Given the description of an element on the screen output the (x, y) to click on. 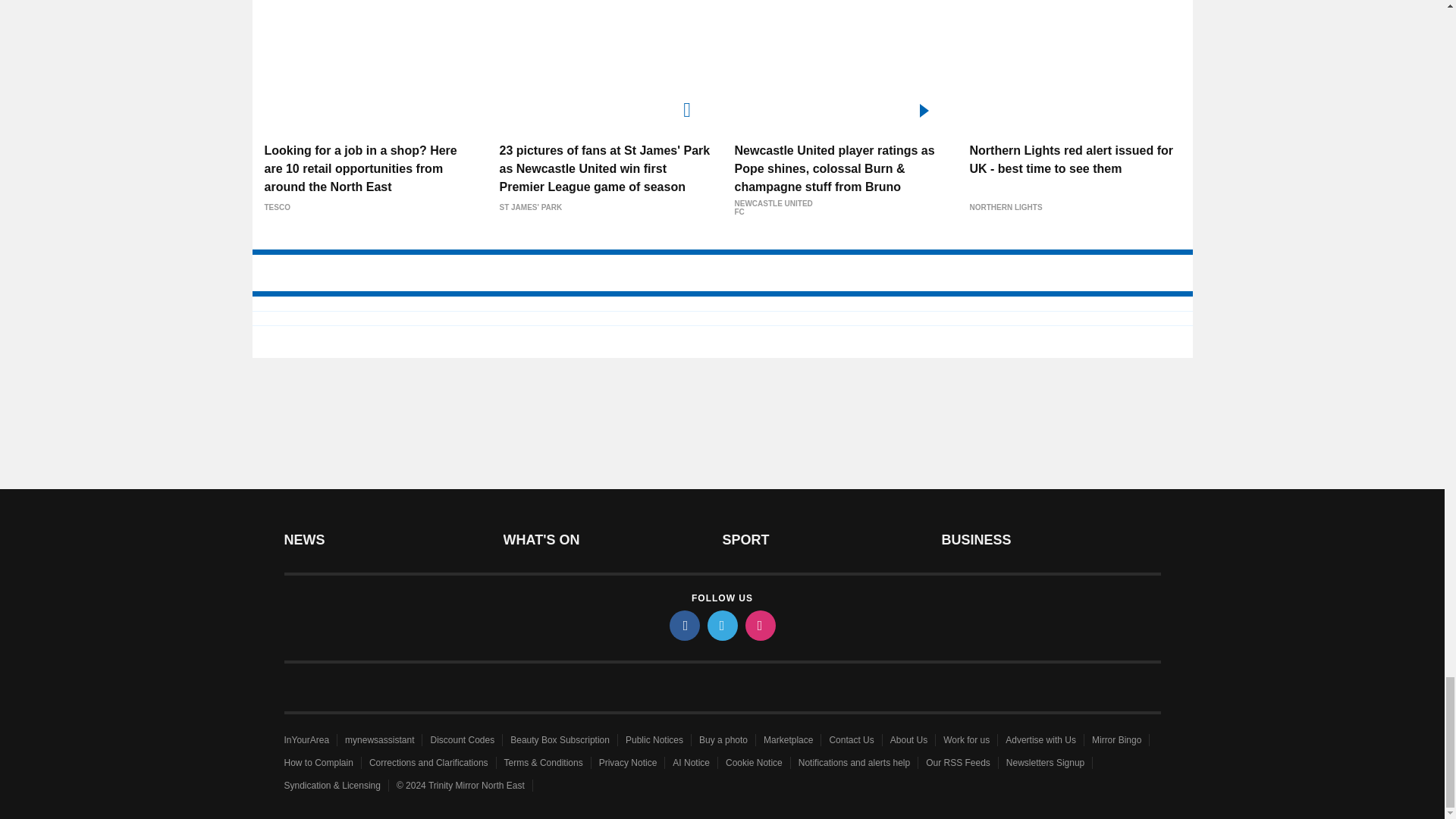
facebook (683, 625)
instagram (759, 625)
twitter (721, 625)
